Given the description of an element on the screen output the (x, y) to click on. 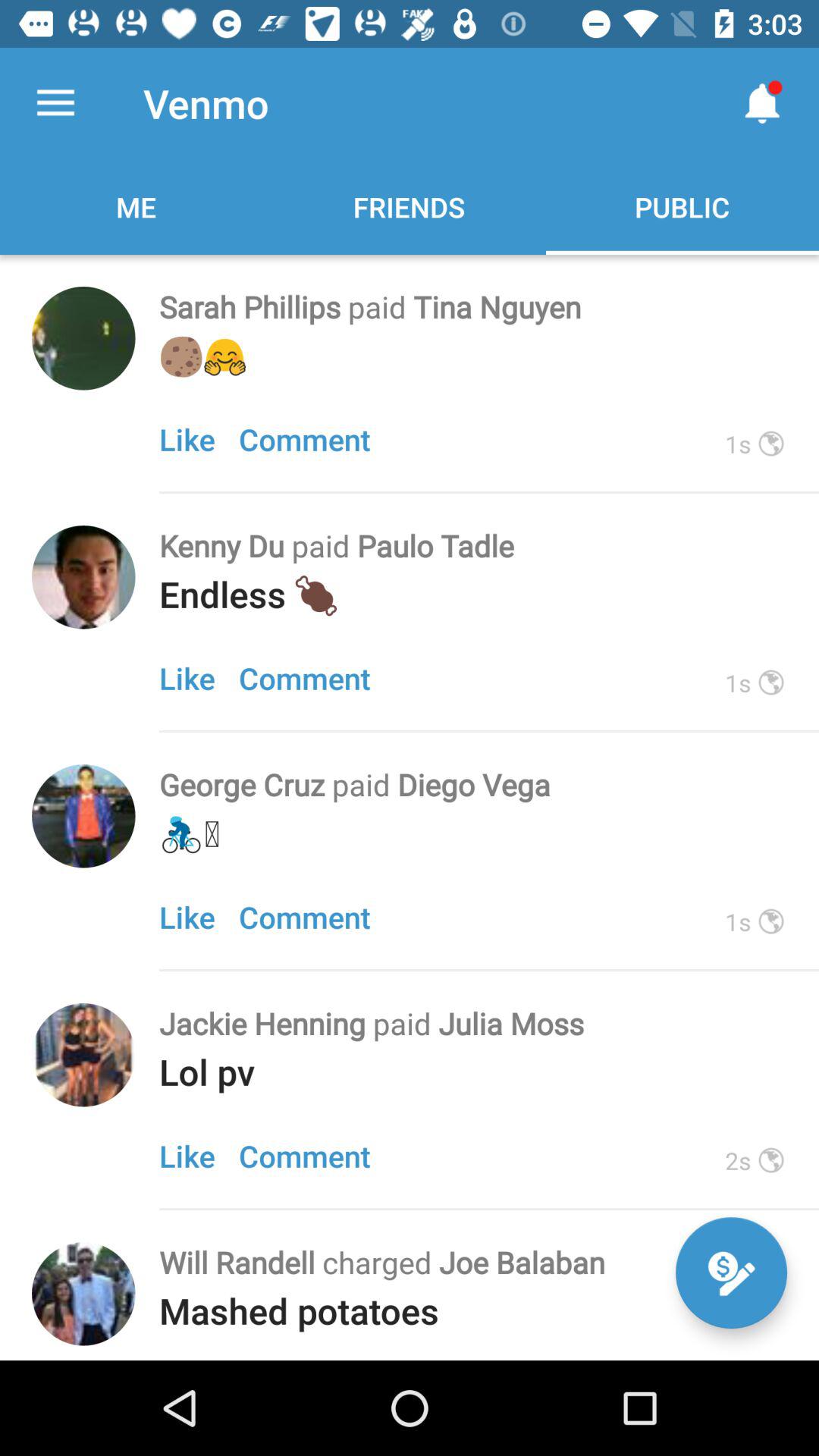
photo gathering button (83, 815)
